Given the description of an element on the screen output the (x, y) to click on. 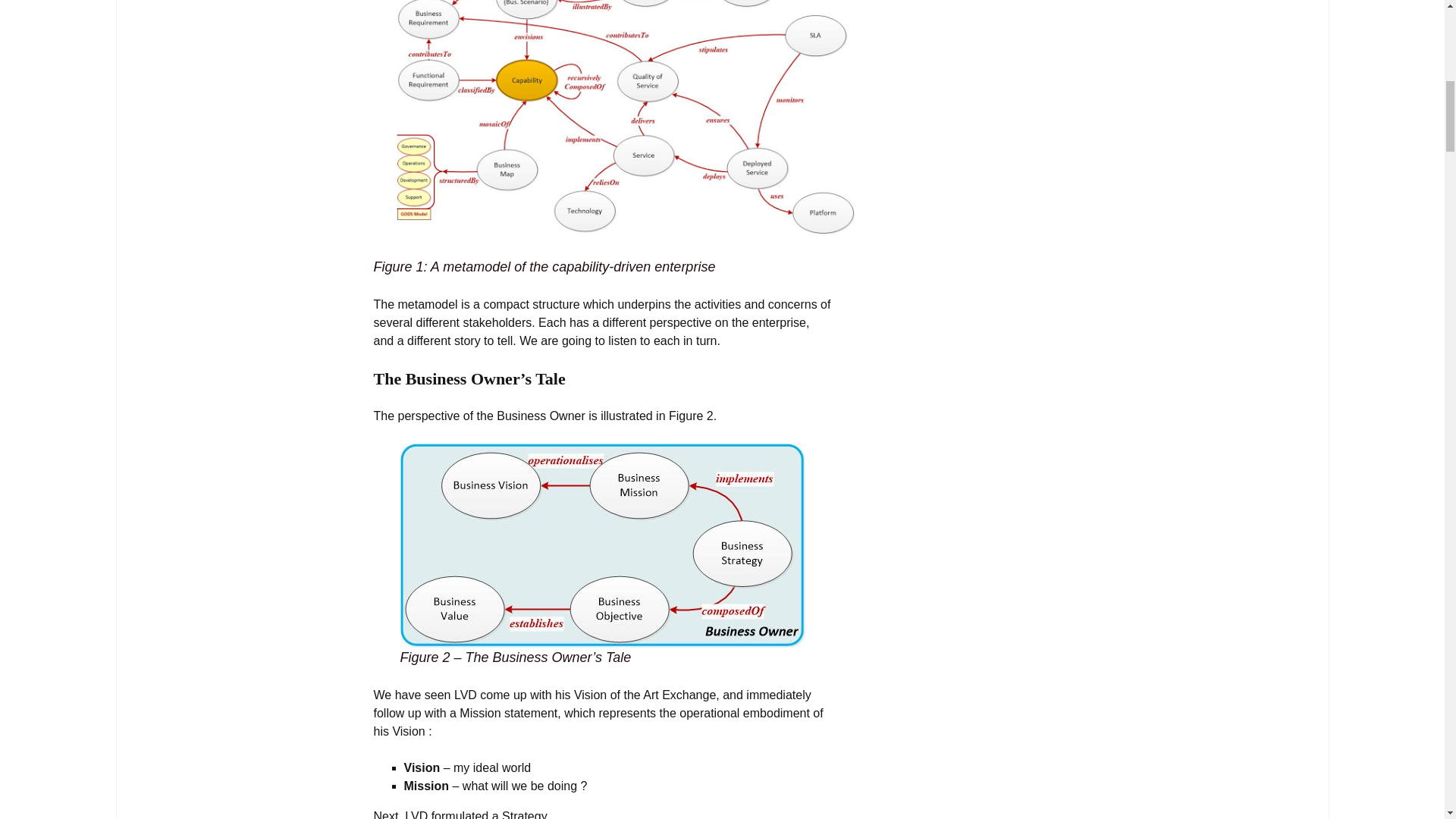
A metamodel of the capability-driven enterprise (624, 117)
